Given the description of an element on the screen output the (x, y) to click on. 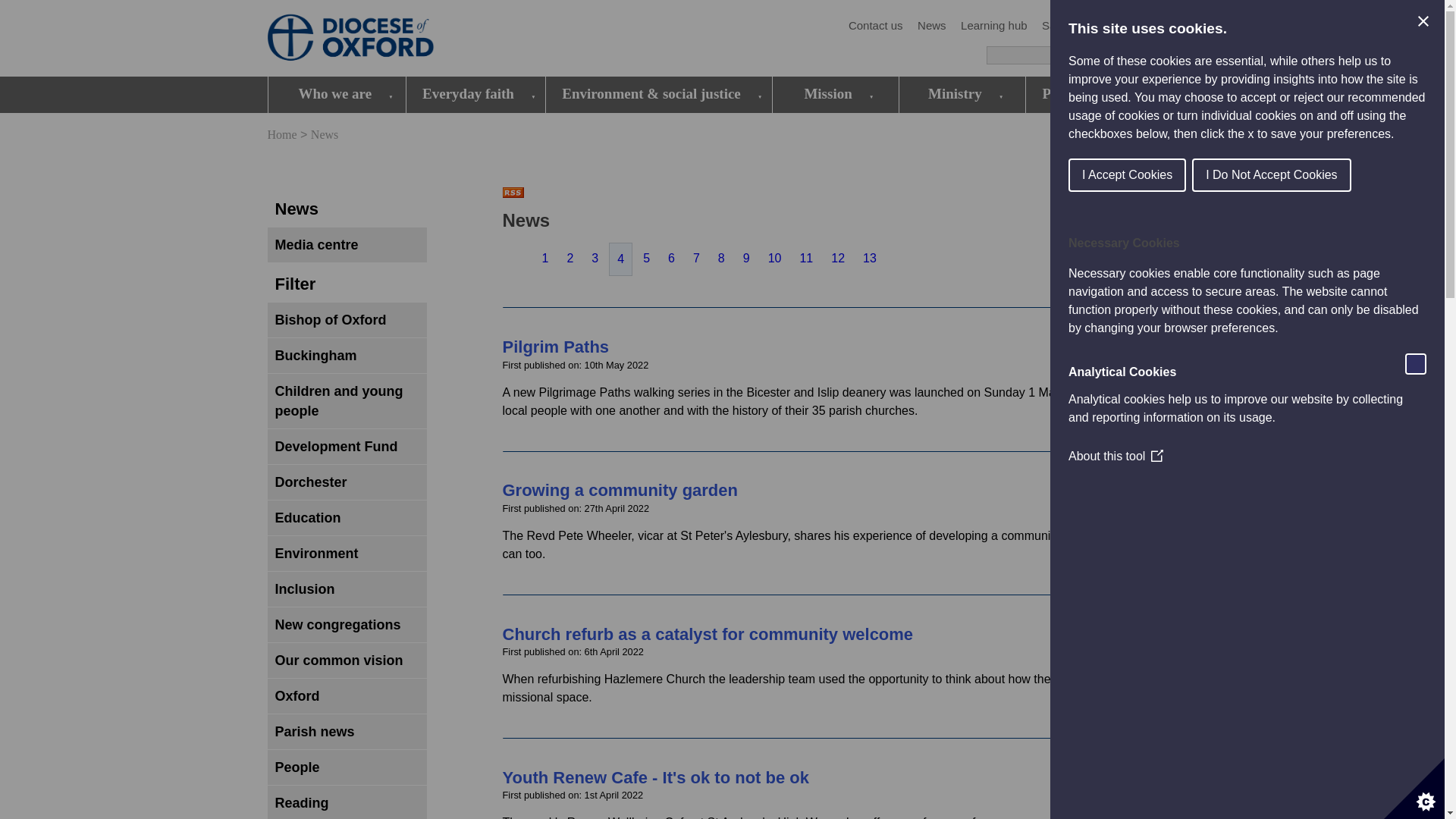
Diocese of Oxford Logo (376, 39)
Learning hub (993, 25)
Education (1149, 25)
Safeguarding (1075, 25)
Contact us (875, 25)
I Accept Cookies (1325, 174)
News (931, 25)
